Given the description of an element on the screen output the (x, y) to click on. 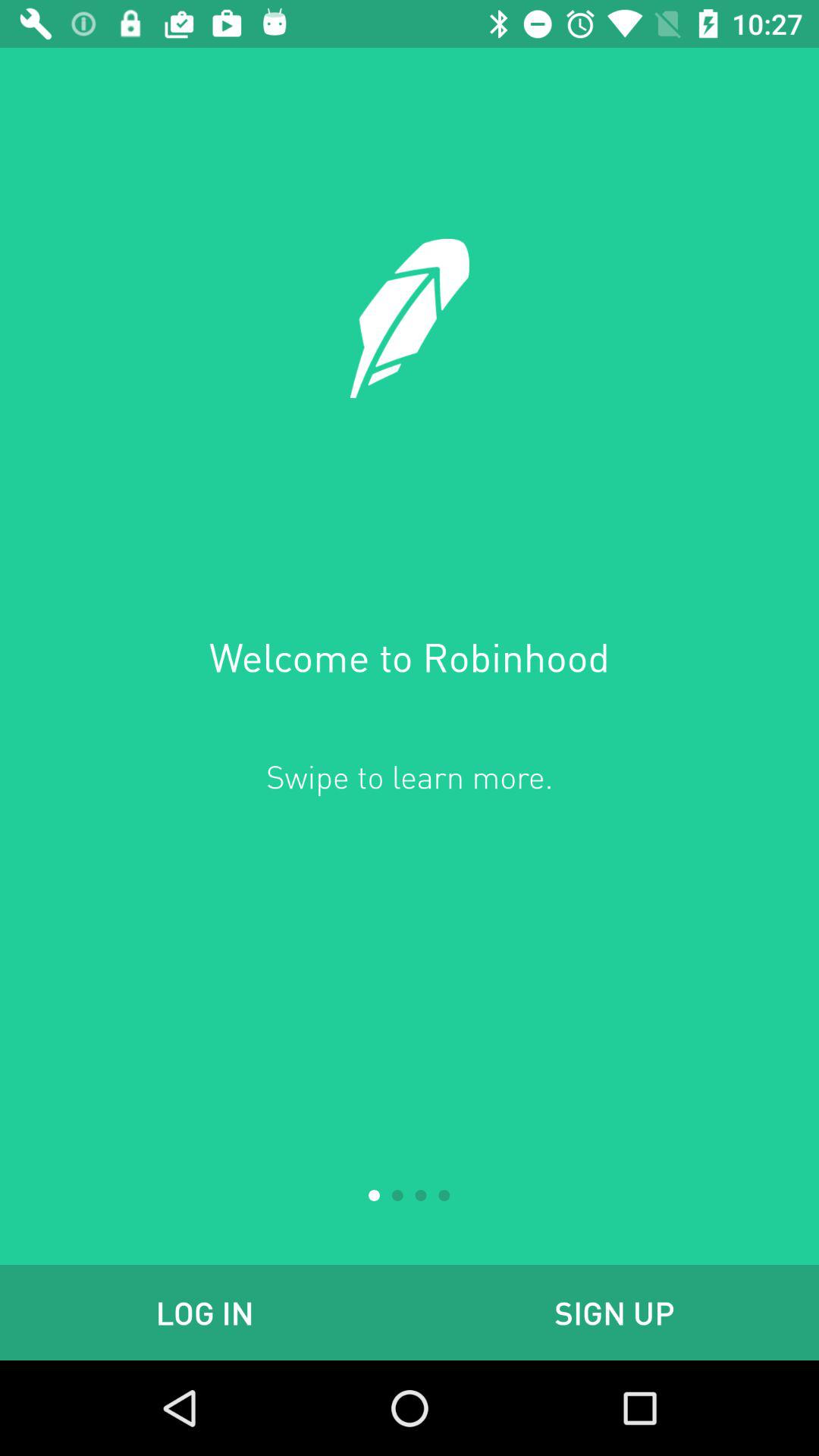
open the sign up item (614, 1312)
